Given the description of an element on the screen output the (x, y) to click on. 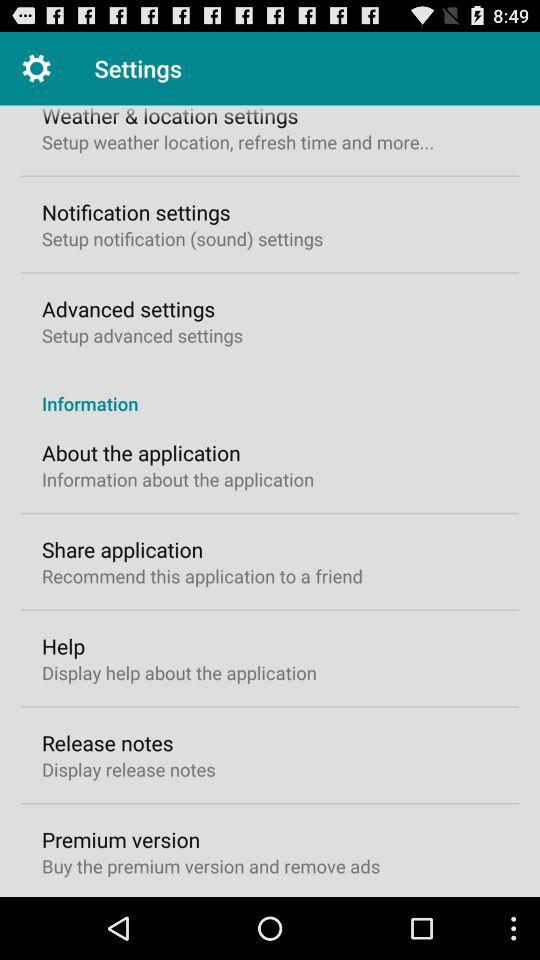
select the item below the share application item (202, 575)
